Given the description of an element on the screen output the (x, y) to click on. 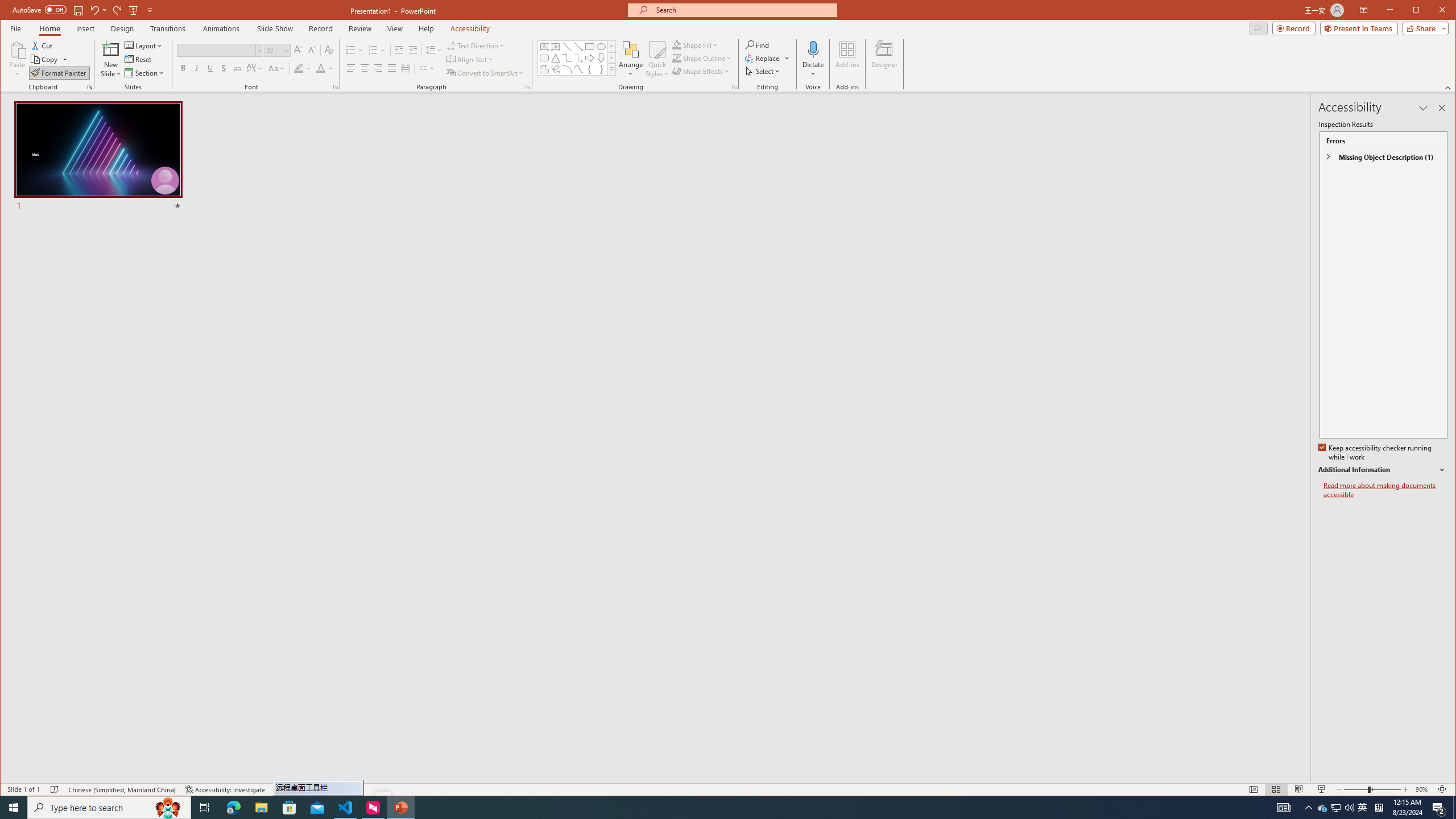
Shape Effects (702, 70)
